Given the description of an element on the screen output the (x, y) to click on. 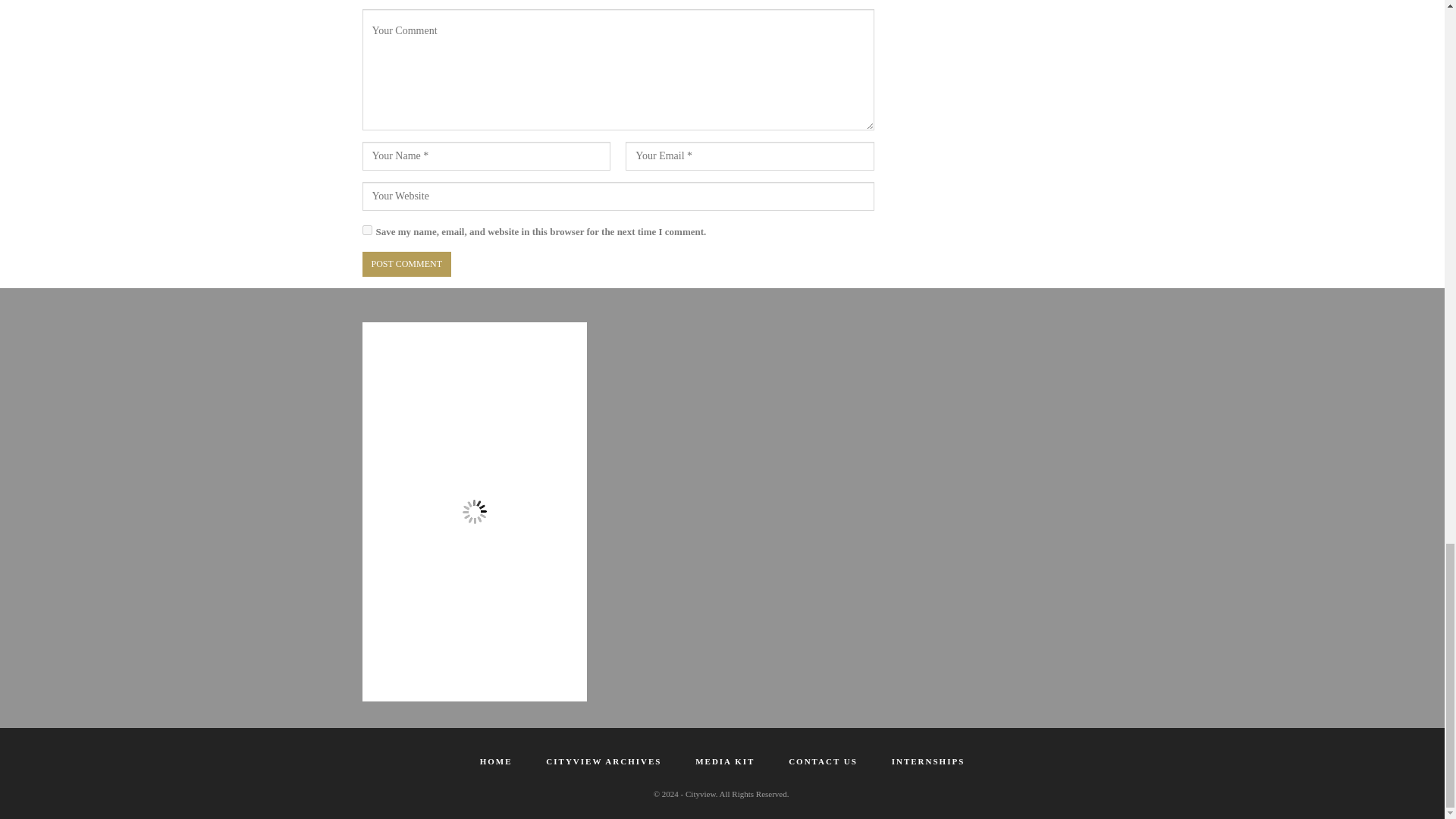
yes (367, 230)
Post Comment (406, 263)
